Given the description of an element on the screen output the (x, y) to click on. 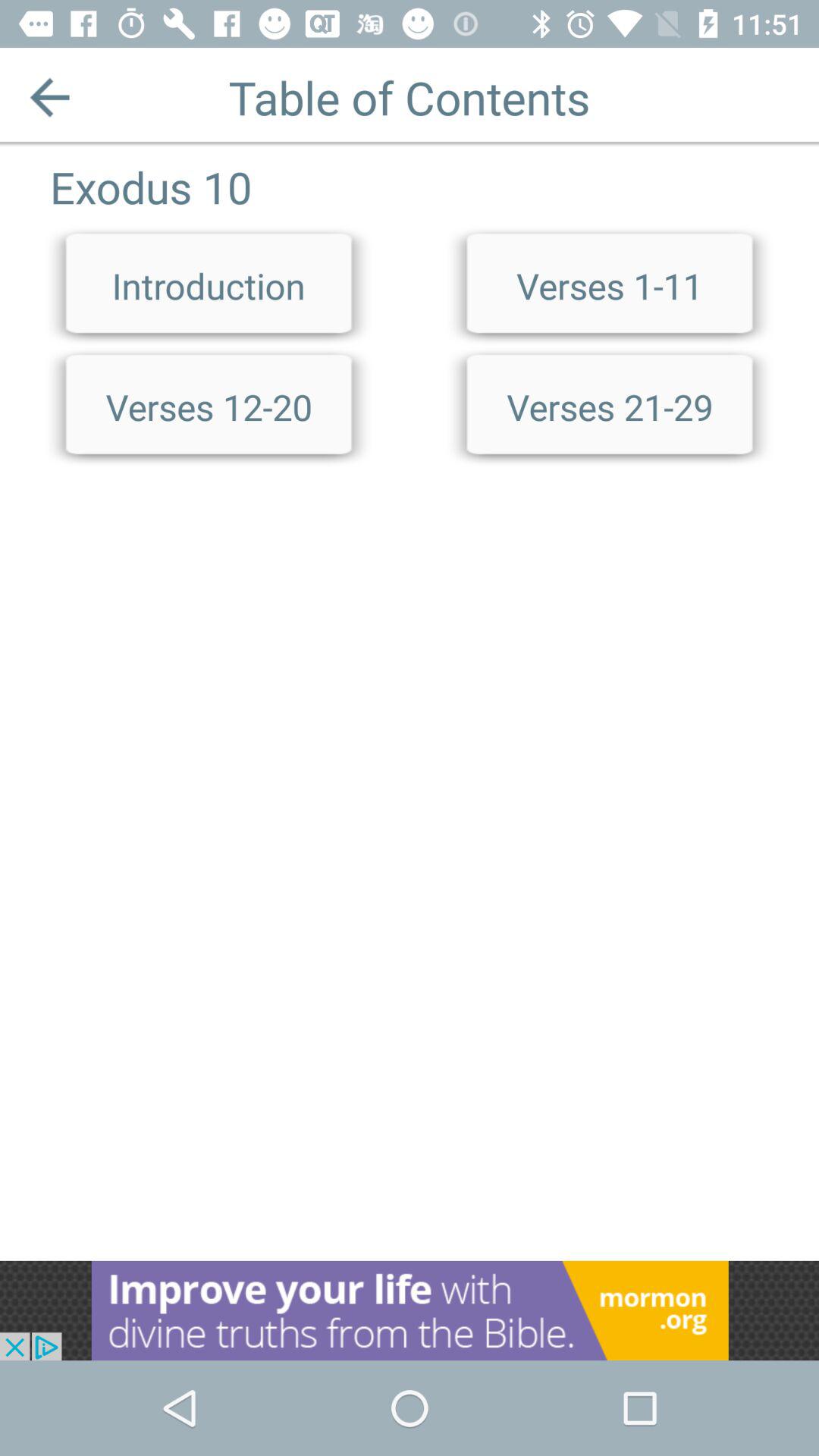
open advertisement (409, 1310)
